Given the description of an element on the screen output the (x, y) to click on. 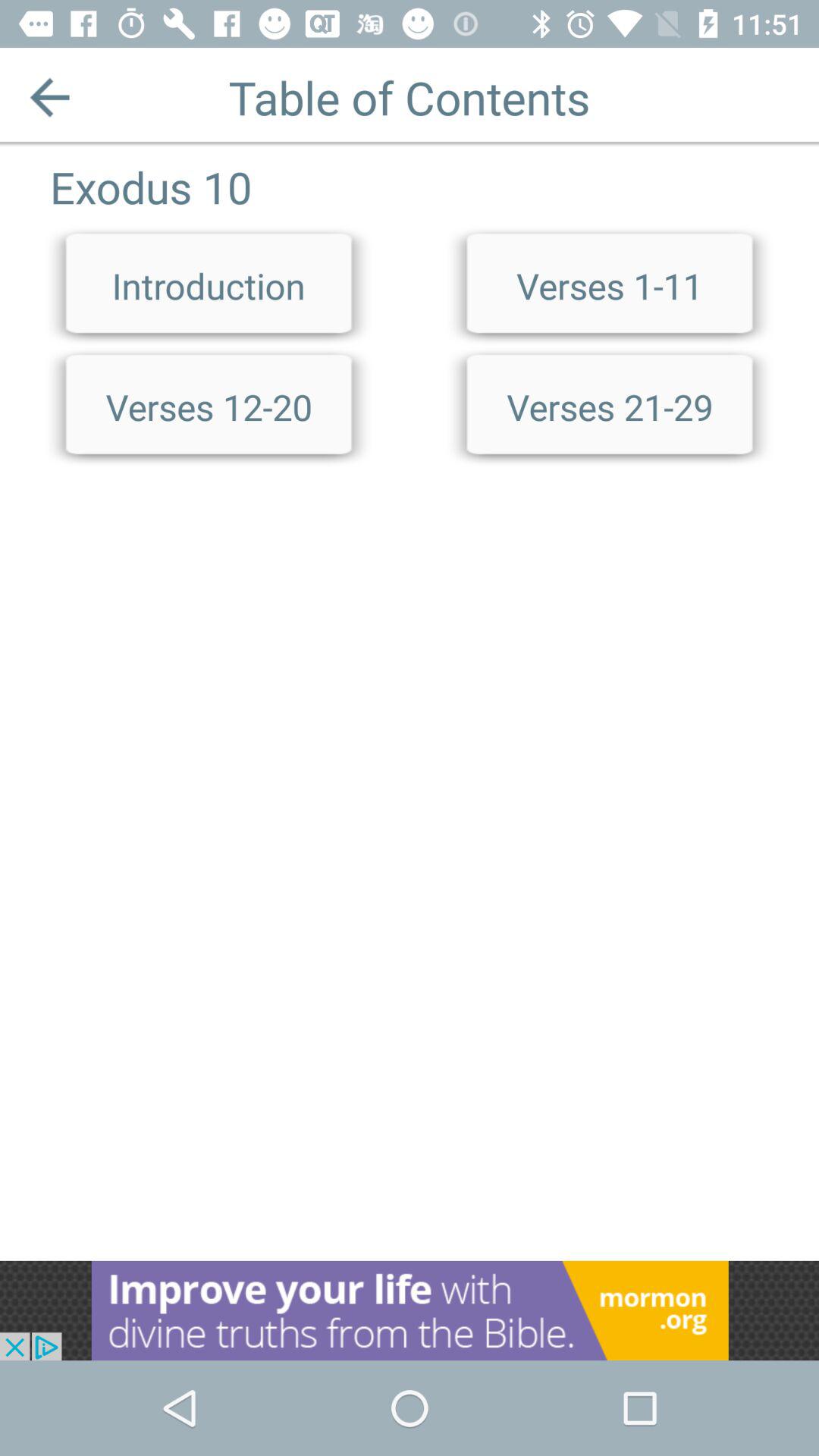
open advertisement (409, 1310)
